Given the description of an element on the screen output the (x, y) to click on. 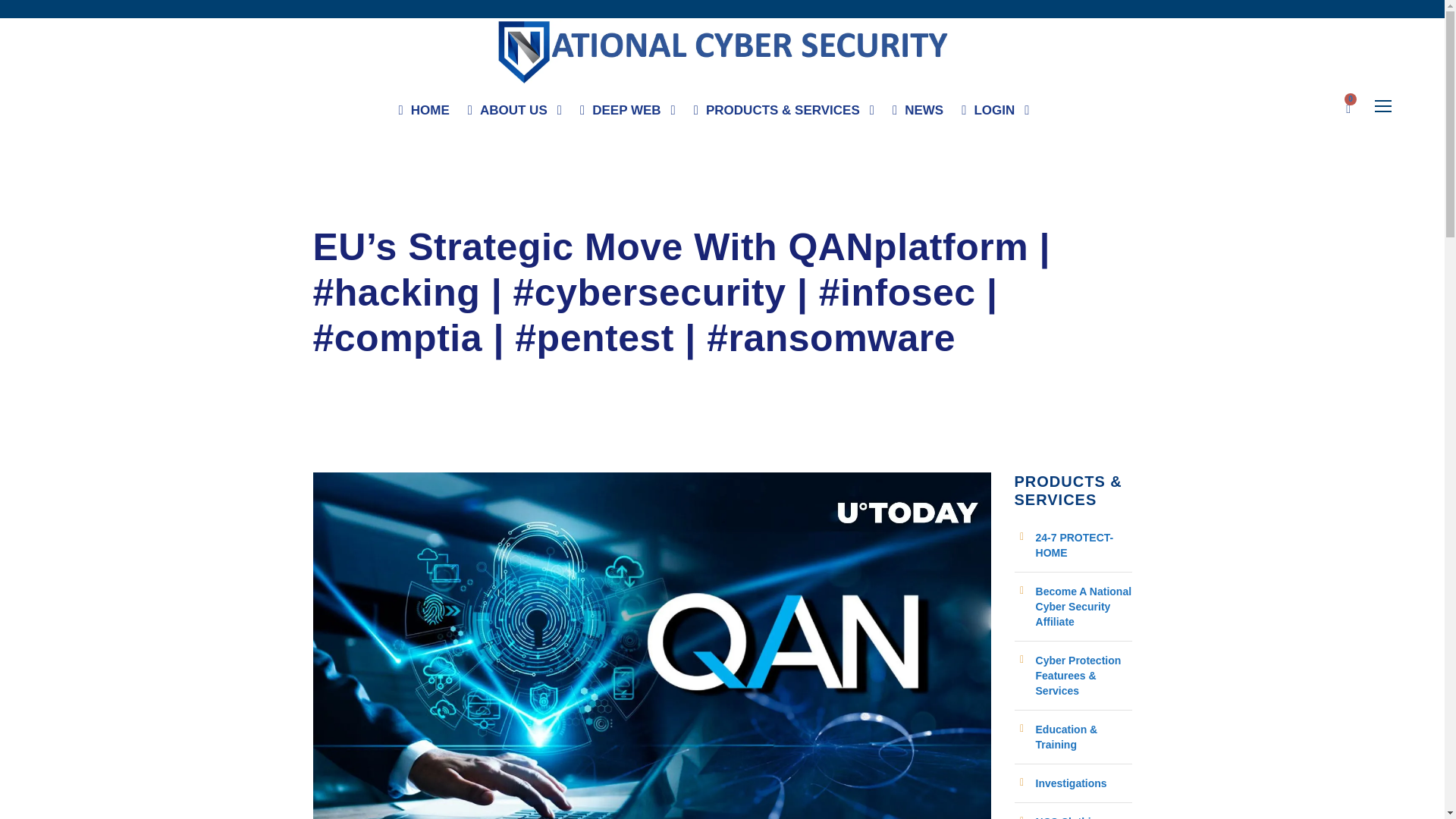
DEEP WEB (627, 114)
ABOUT US (514, 114)
Posts by Natioinal Cyber Security Training Academy Corp (443, 211)
HOME (423, 114)
